Given the description of an element on the screen output the (x, y) to click on. 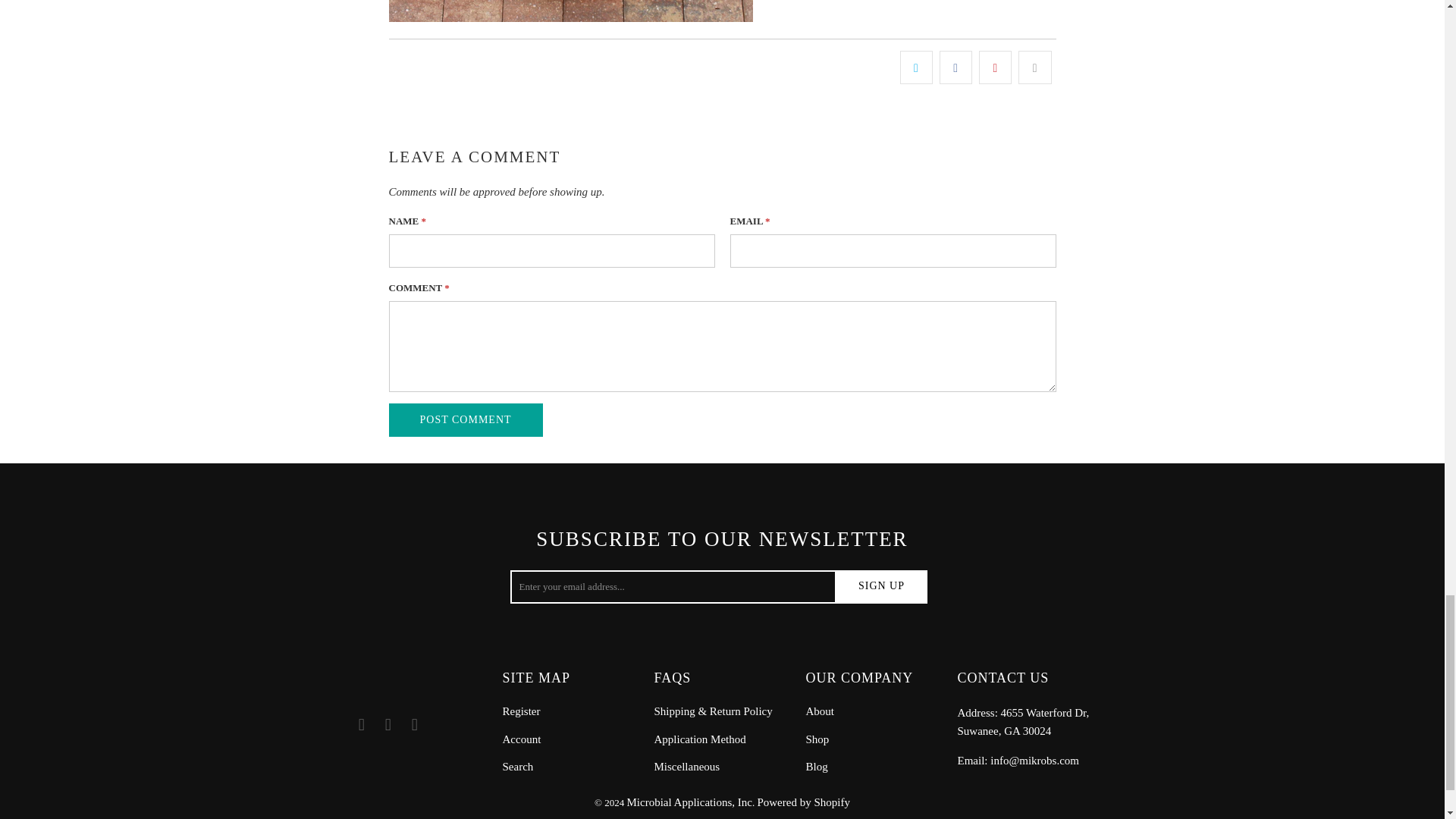
Share this on Pinterest (994, 67)
Microbial Applications, Inc on YouTube (387, 724)
Microbial Applications, Inc on Instagram (414, 724)
Share this on Facebook (955, 67)
Post comment (464, 419)
Share this on Twitter (916, 67)
Sign Up (880, 586)
Email this to a friend (1034, 67)
Microbial Applications, Inc on Facebook (361, 724)
